Given the description of an element on the screen output the (x, y) to click on. 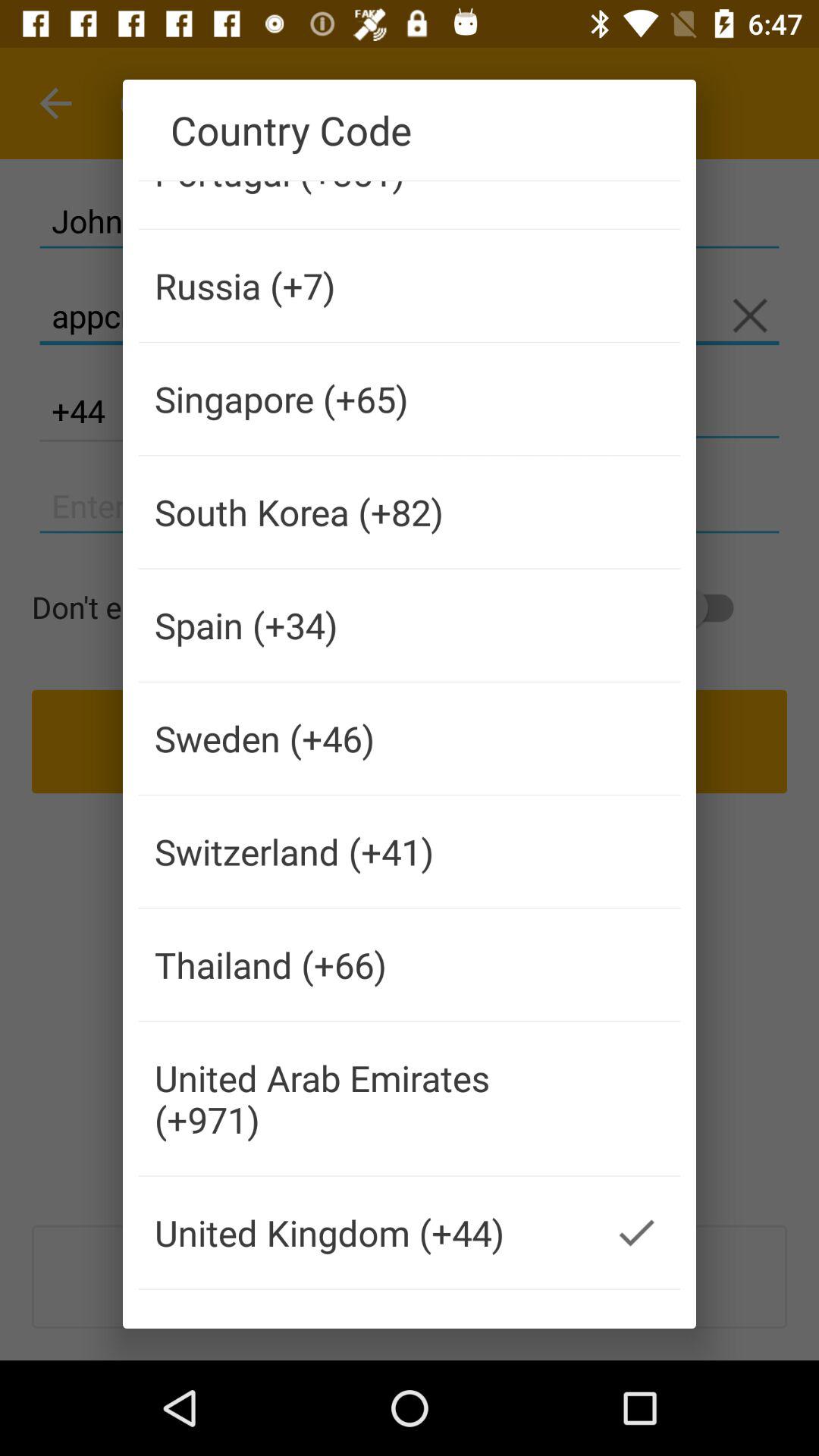
click icon next to the united kingdom (+44) (636, 1232)
